Given the description of an element on the screen output the (x, y) to click on. 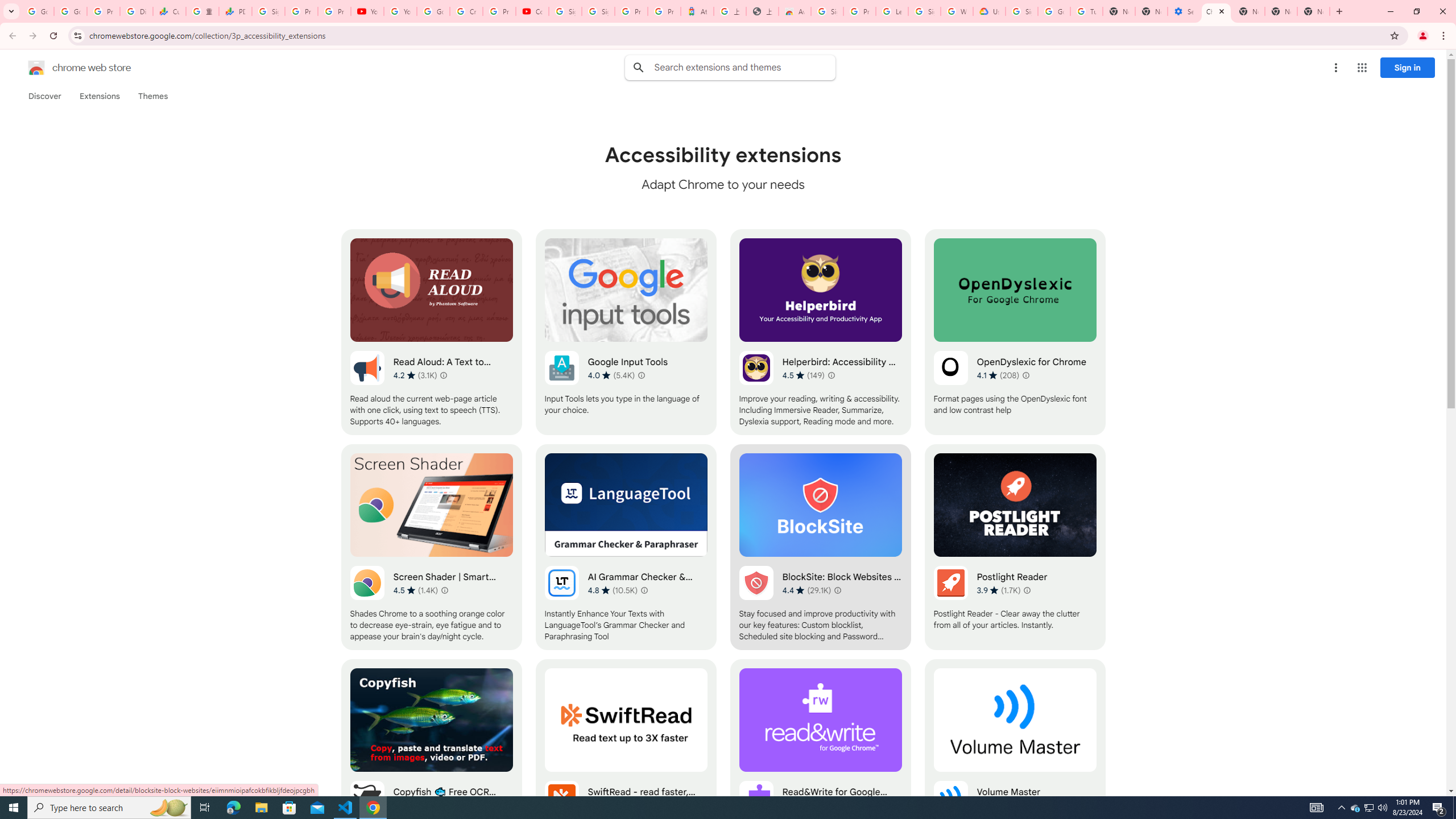
Helperbird: Accessibility & Productivity App (820, 331)
Chrome Web Store - Accessibility extensions (1216, 11)
PDD Holdings Inc - ADR (PDD) Price & News - Google Finance (235, 11)
Average rating 4.4 out of 5 stars. 29.1K ratings. (806, 590)
Privacy Checkup (334, 11)
Average rating 4.5 out of 5 stars. 1.4K ratings. (415, 590)
